Given the description of an element on the screen output the (x, y) to click on. 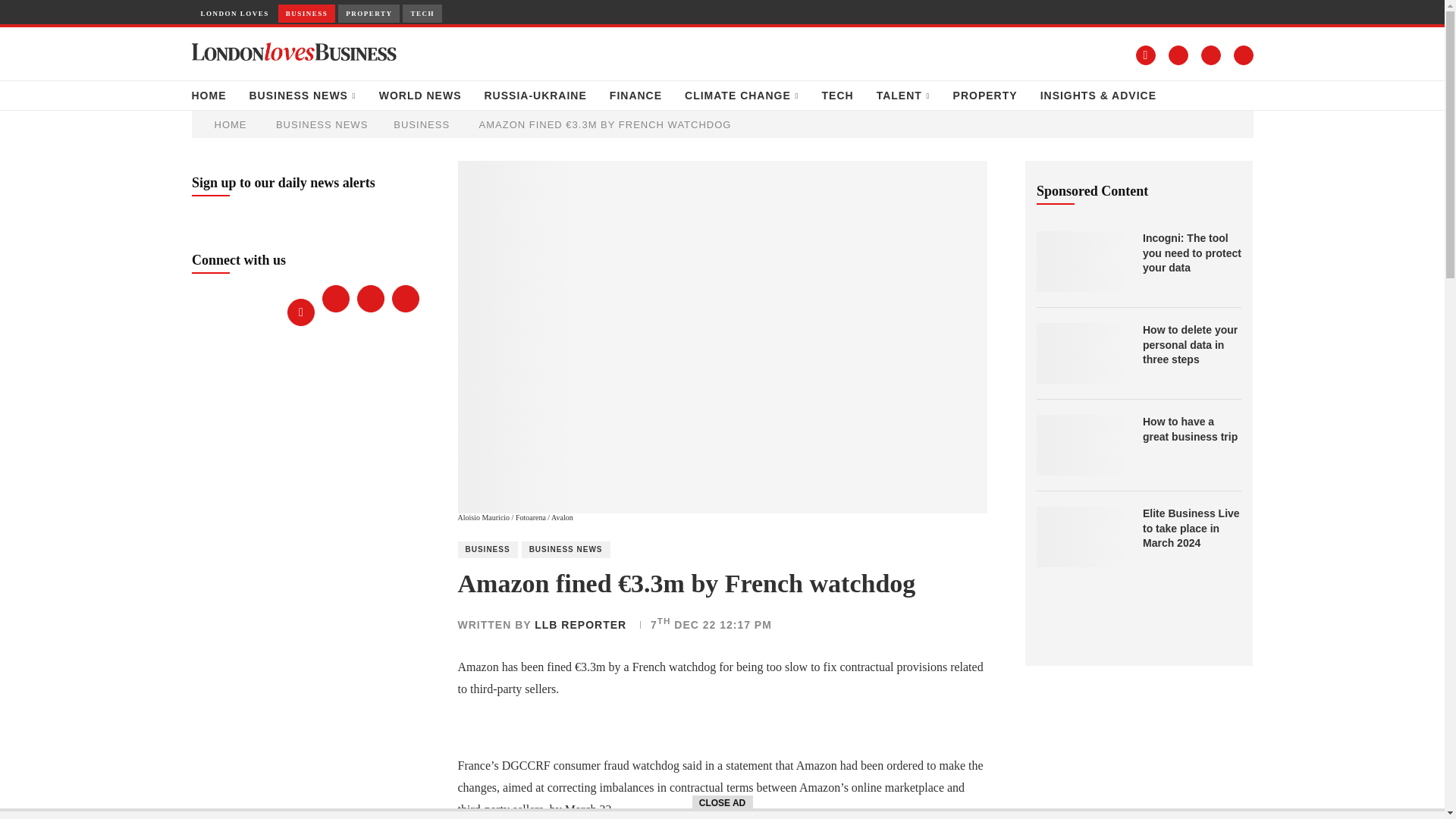
Incogni: The tool you need to protect your data (1191, 253)
Incogni: The tool you need to protect your data (1081, 260)
How to delete your personal data in three steps (1081, 353)
